Given the description of an element on the screen output the (x, y) to click on. 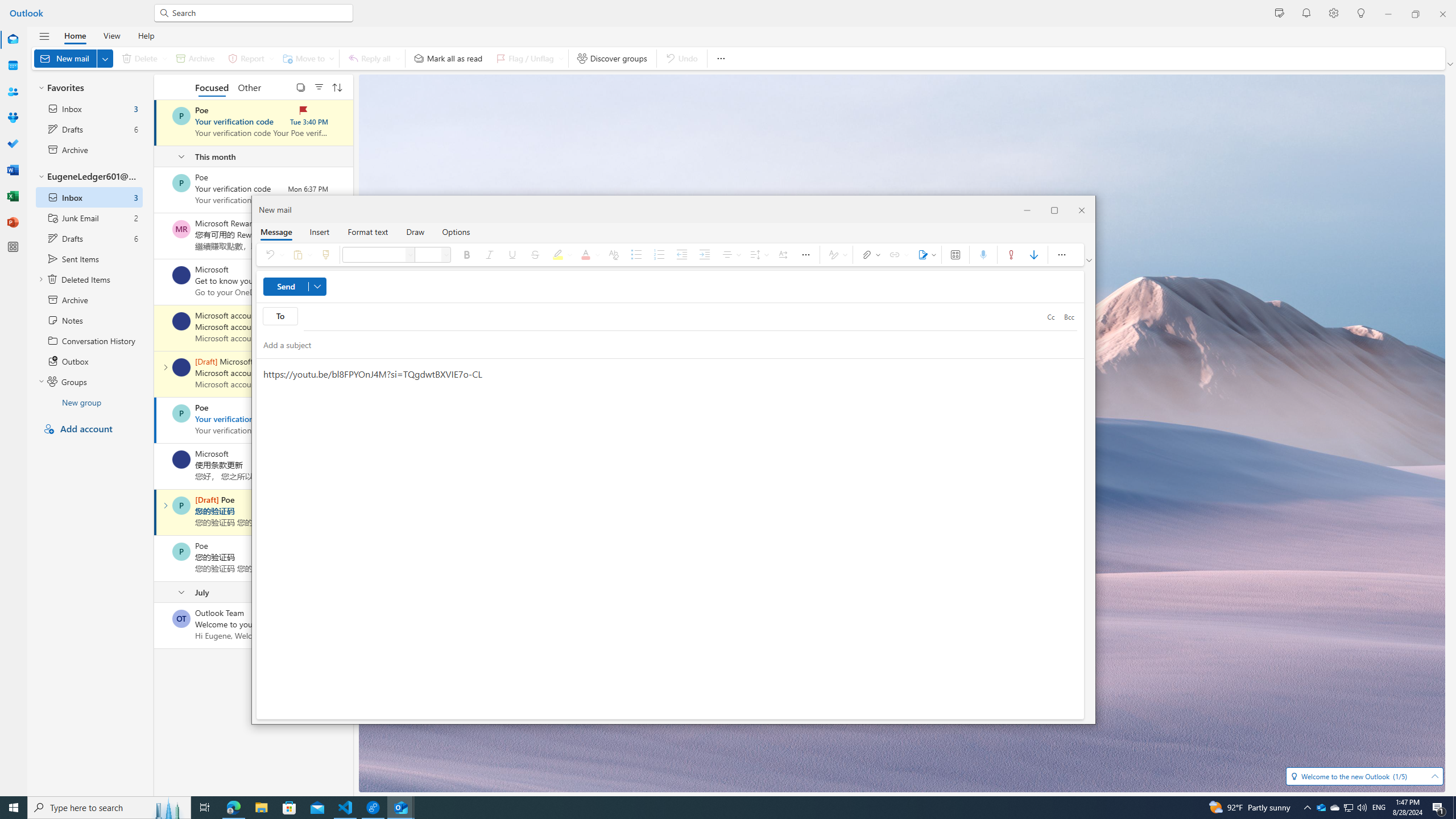
Decrease indent (682, 254)
Italic (489, 254)
Add a subject (659, 344)
Show desktop (1454, 807)
Send (294, 286)
Clear formatting (613, 254)
Microsoft account team (180, 367)
Word (12, 170)
Numbering (659, 254)
Low importance (1033, 254)
Open (1434, 775)
Focused (212, 86)
Paste (300, 254)
